Given the description of an element on the screen output the (x, y) to click on. 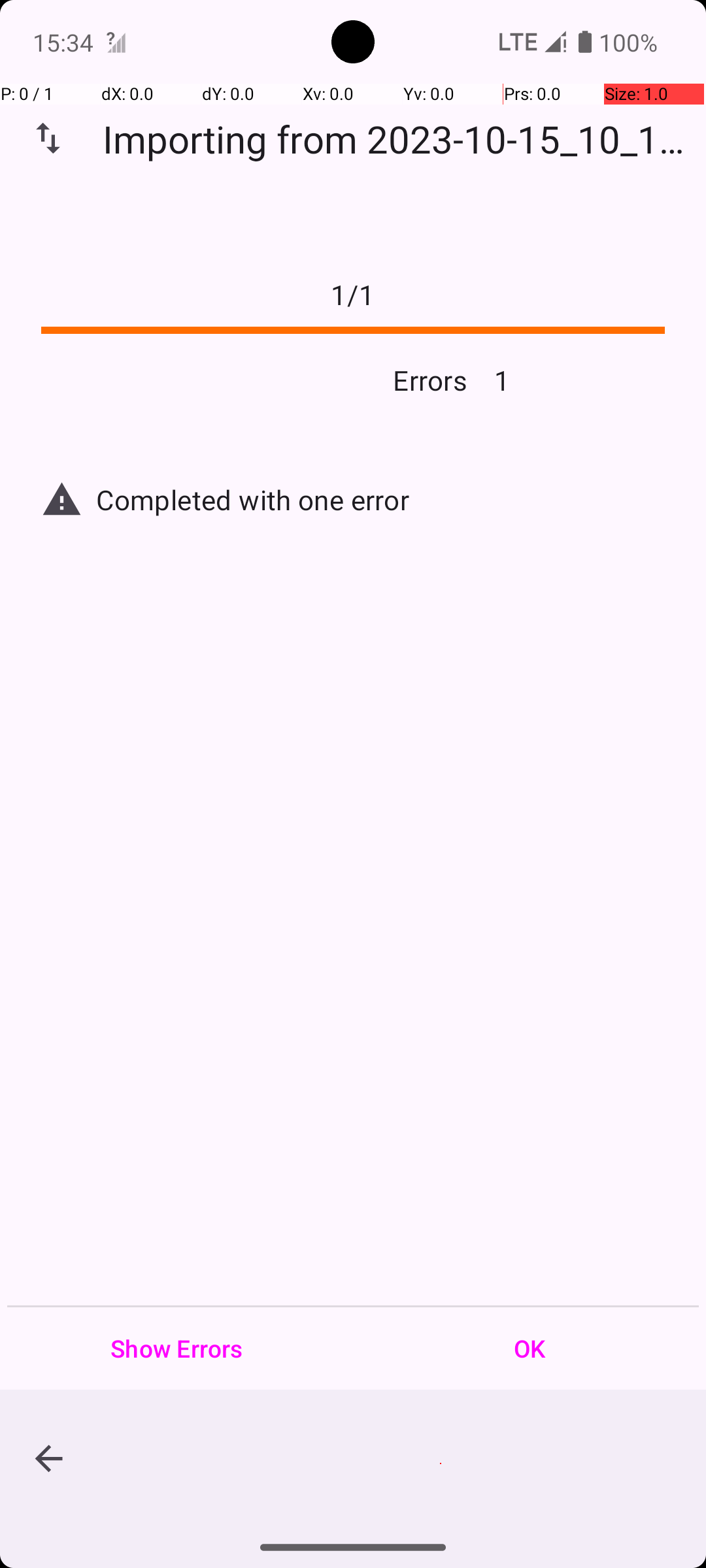
Importing from 2023-10-15_10_11_Bike Expedition.kmz… Element type: android.widget.TextView (400, 138)
Show Errors Element type: android.widget.Button (176, 1348)
/ Element type: android.widget.TextView (352, 293)
Errors Element type: android.widget.TextView (246, 379)
Completed with one error Element type: android.widget.TextView (380, 499)
